Given the description of an element on the screen output the (x, y) to click on. 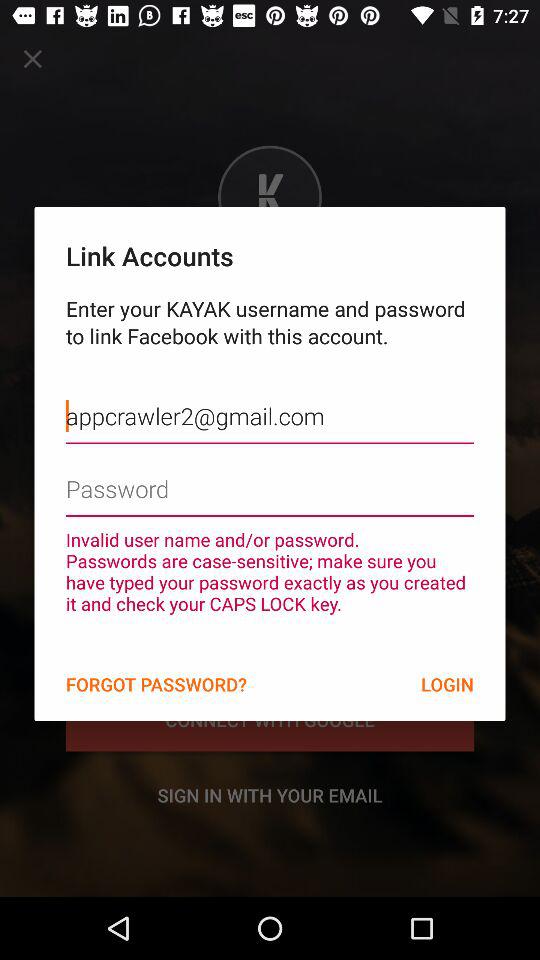
press appcrawler2@gmail.com item (269, 401)
